Given the description of an element on the screen output the (x, y) to click on. 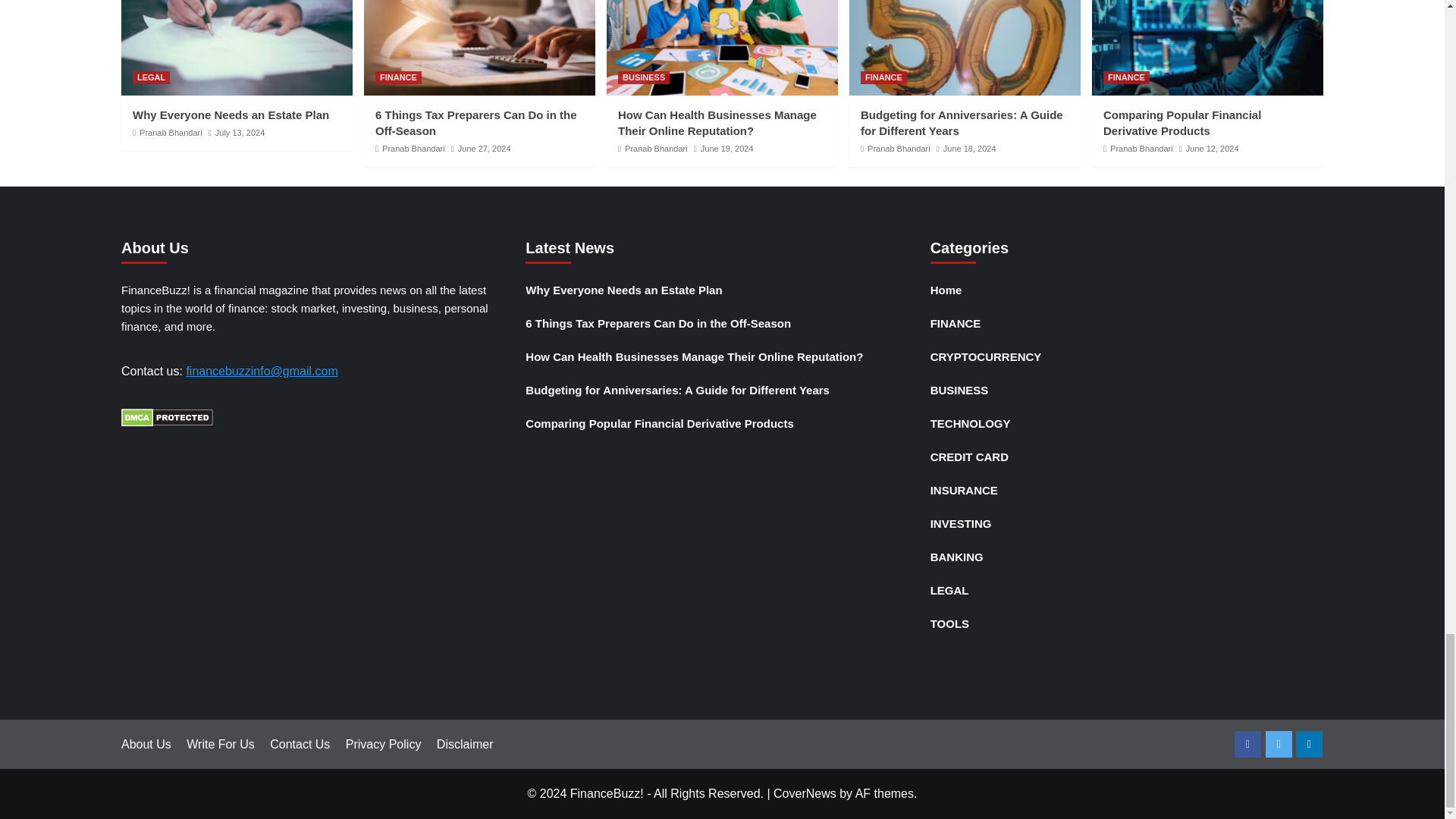
DMCA.com Protection Status (166, 416)
